Given the description of an element on the screen output the (x, y) to click on. 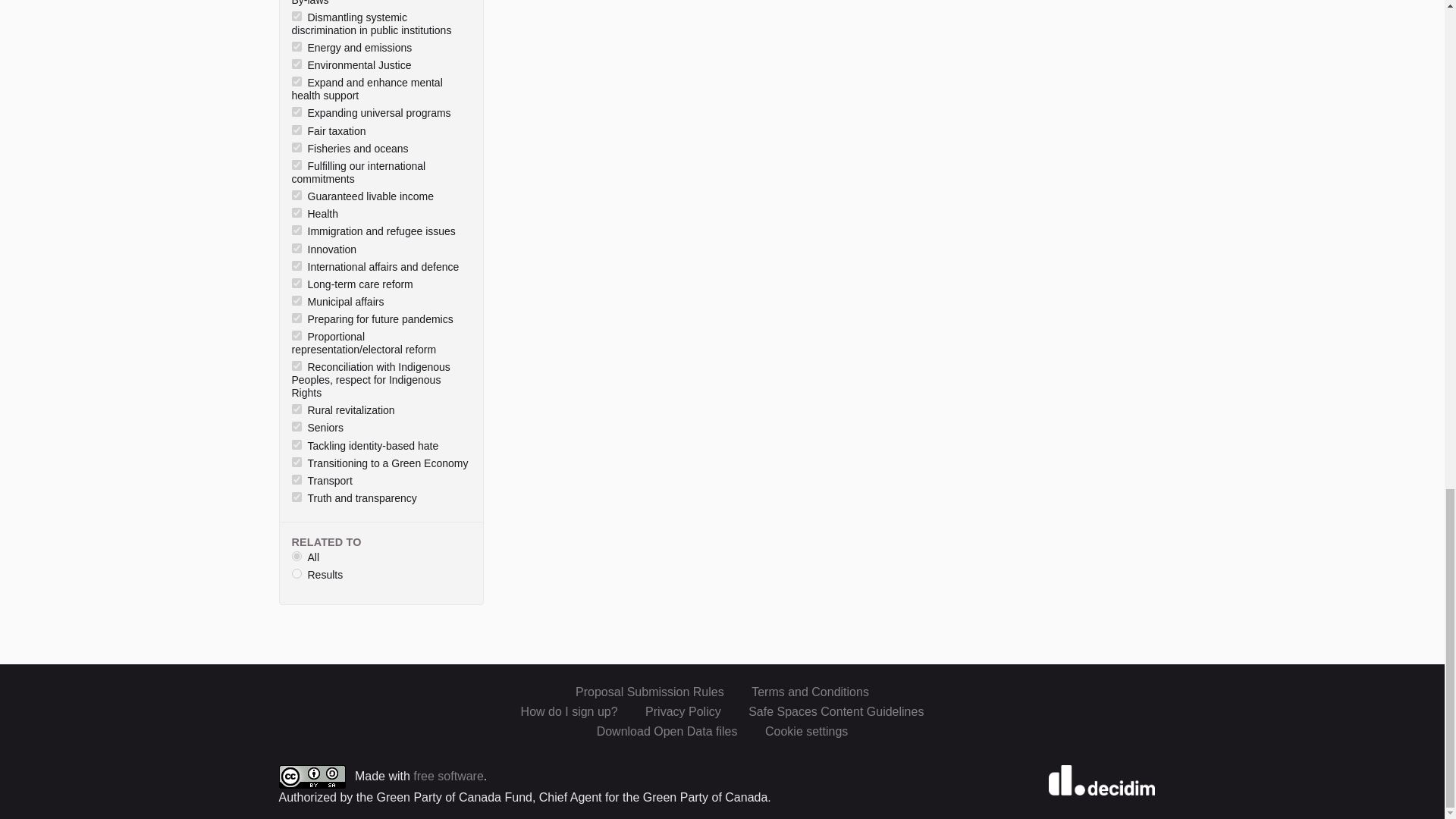
Facebook (1104, 689)
36 (296, 16)
YouTube (1160, 689)
X (1076, 689)
37 (296, 46)
38 (296, 63)
Instagram (1131, 689)
